Given the description of an element on the screen output the (x, y) to click on. 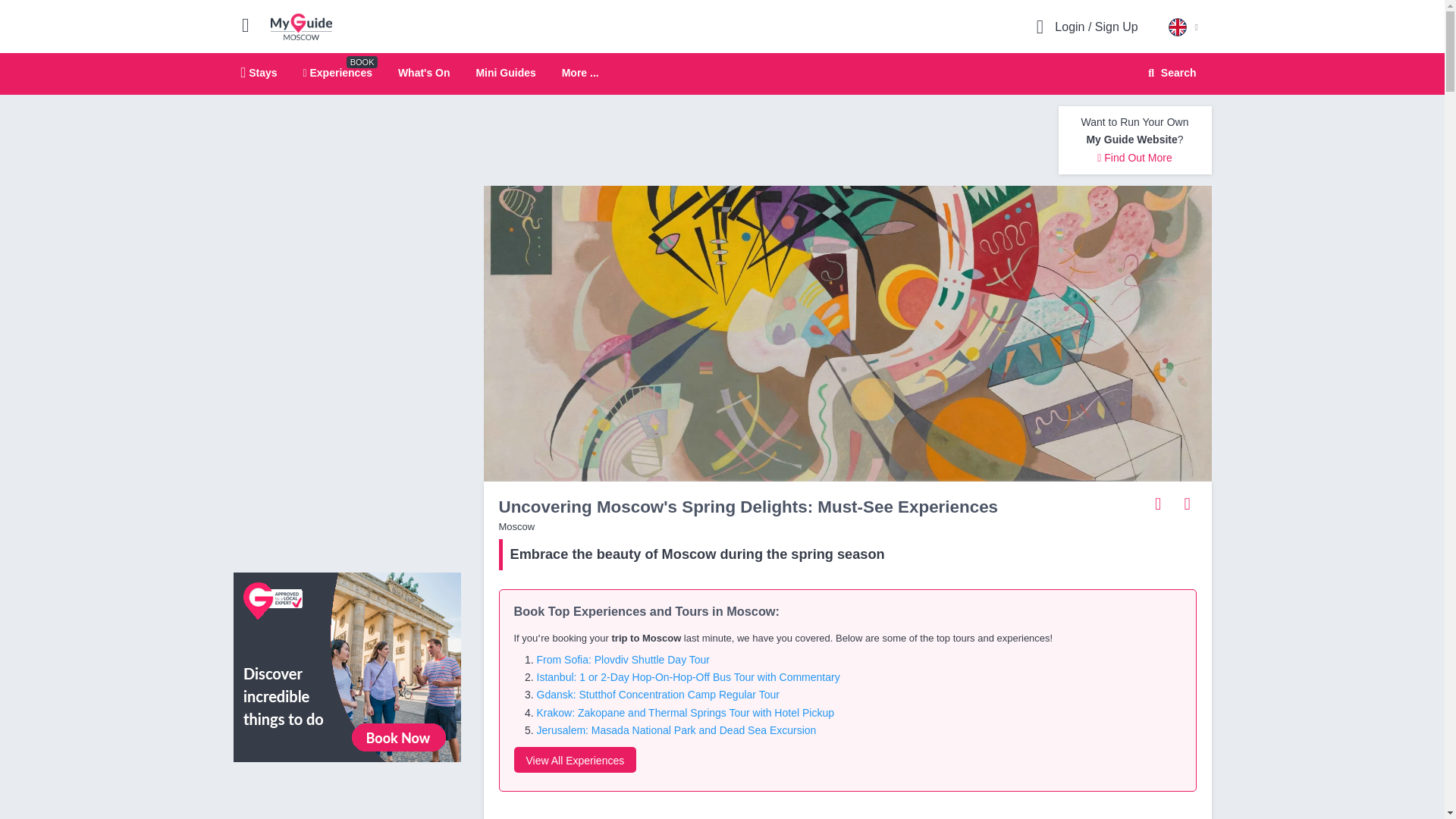
View All Experiences (721, 74)
View All Experiences (346, 666)
Search Website (575, 759)
Uncovering Moscow's Spring Delights: Must-See Experiences (1170, 73)
Stays (337, 72)
My Guide Moscow (259, 72)
More ... (300, 25)
Mini Guides (580, 72)
